Given the description of an element on the screen output the (x, y) to click on. 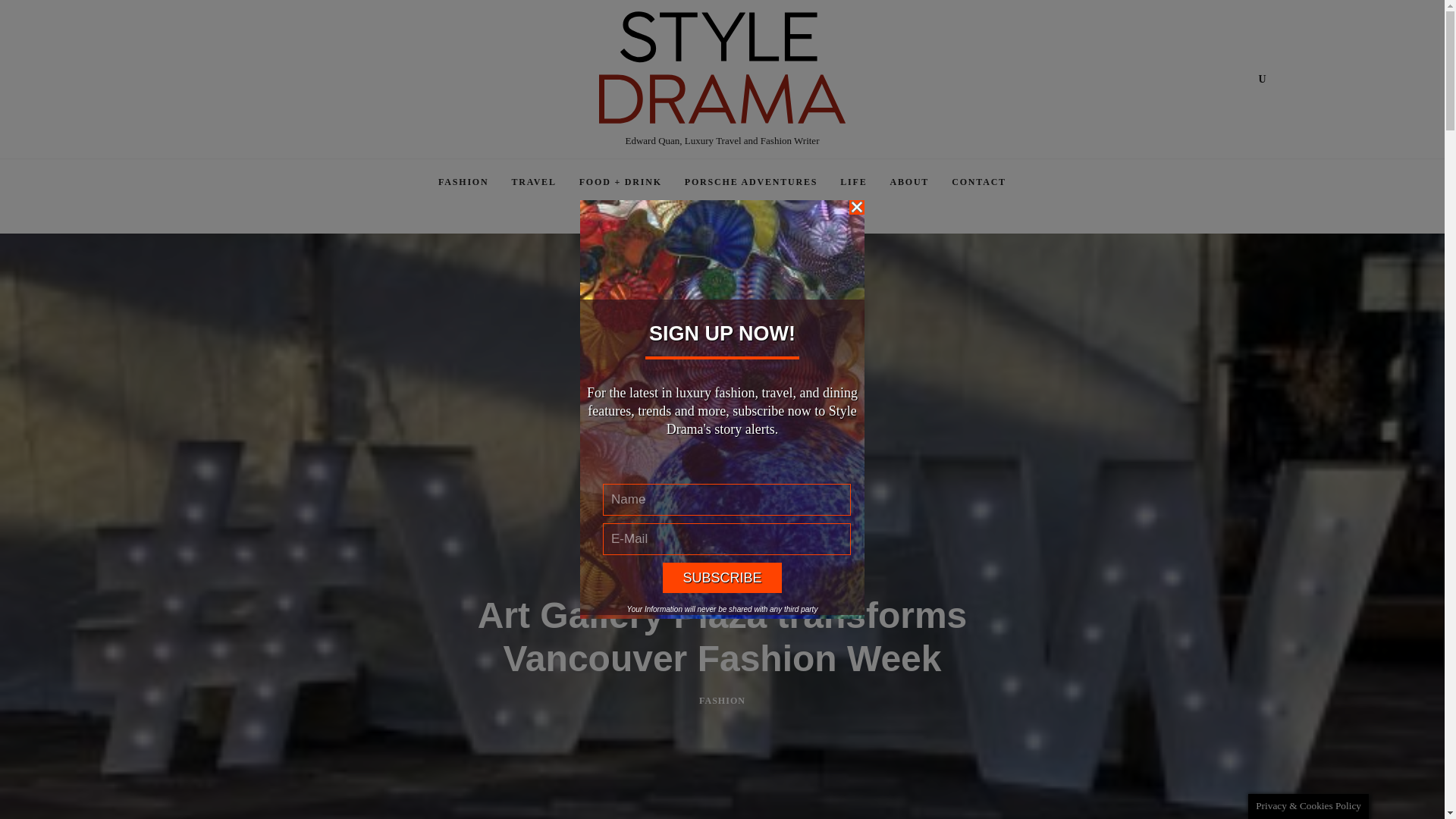
CONTACT (978, 181)
FASHION (721, 700)
PORSCHE ADVENTURES (750, 181)
TRAVEL (533, 181)
LIFE (852, 181)
SUBSCRIBE (722, 577)
FASHION (462, 181)
ABOUT (908, 181)
